Given the description of an element on the screen output the (x, y) to click on. 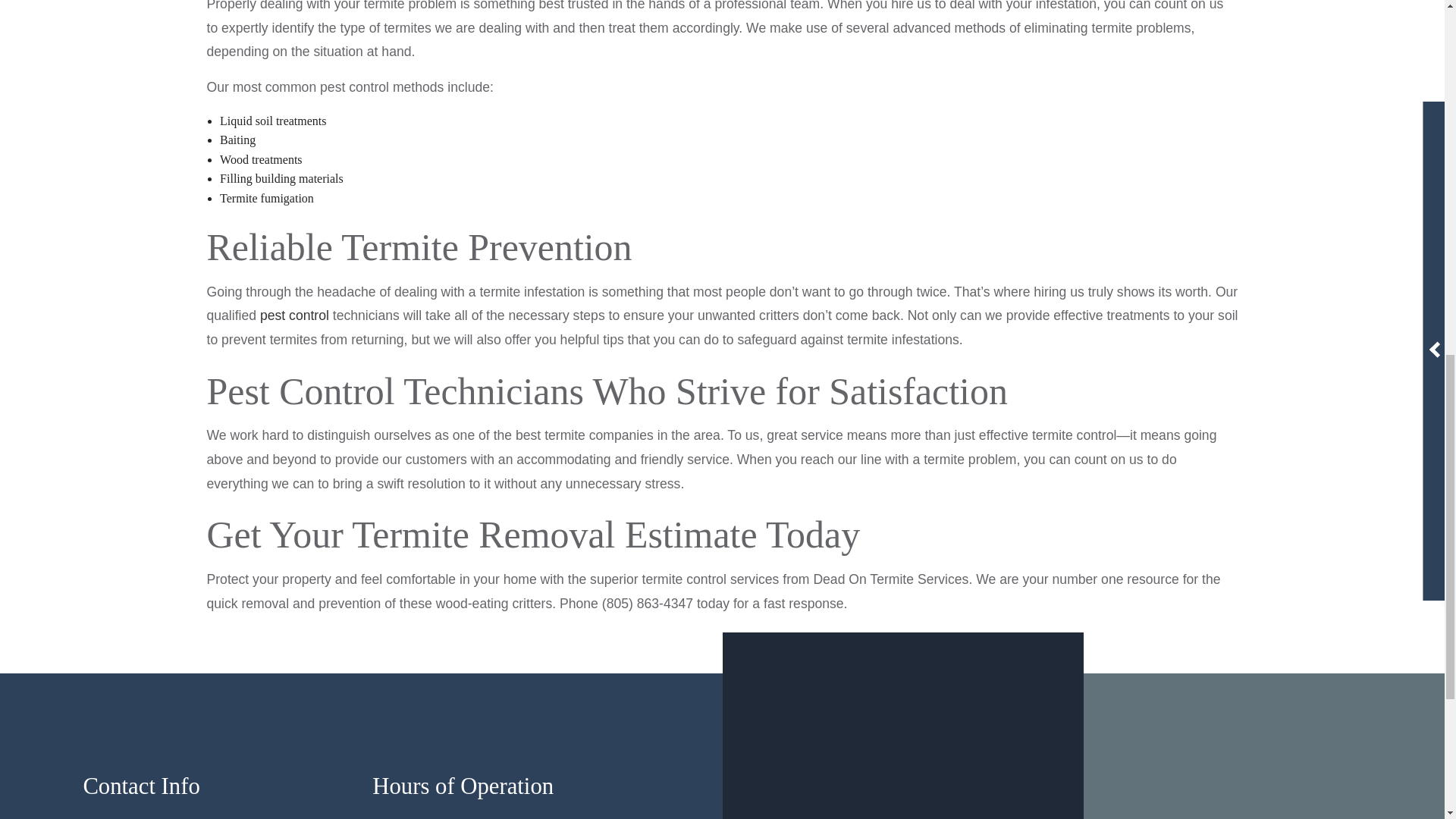
Learn more about Pest Control Services (294, 314)
